Given the description of an element on the screen output the (x, y) to click on. 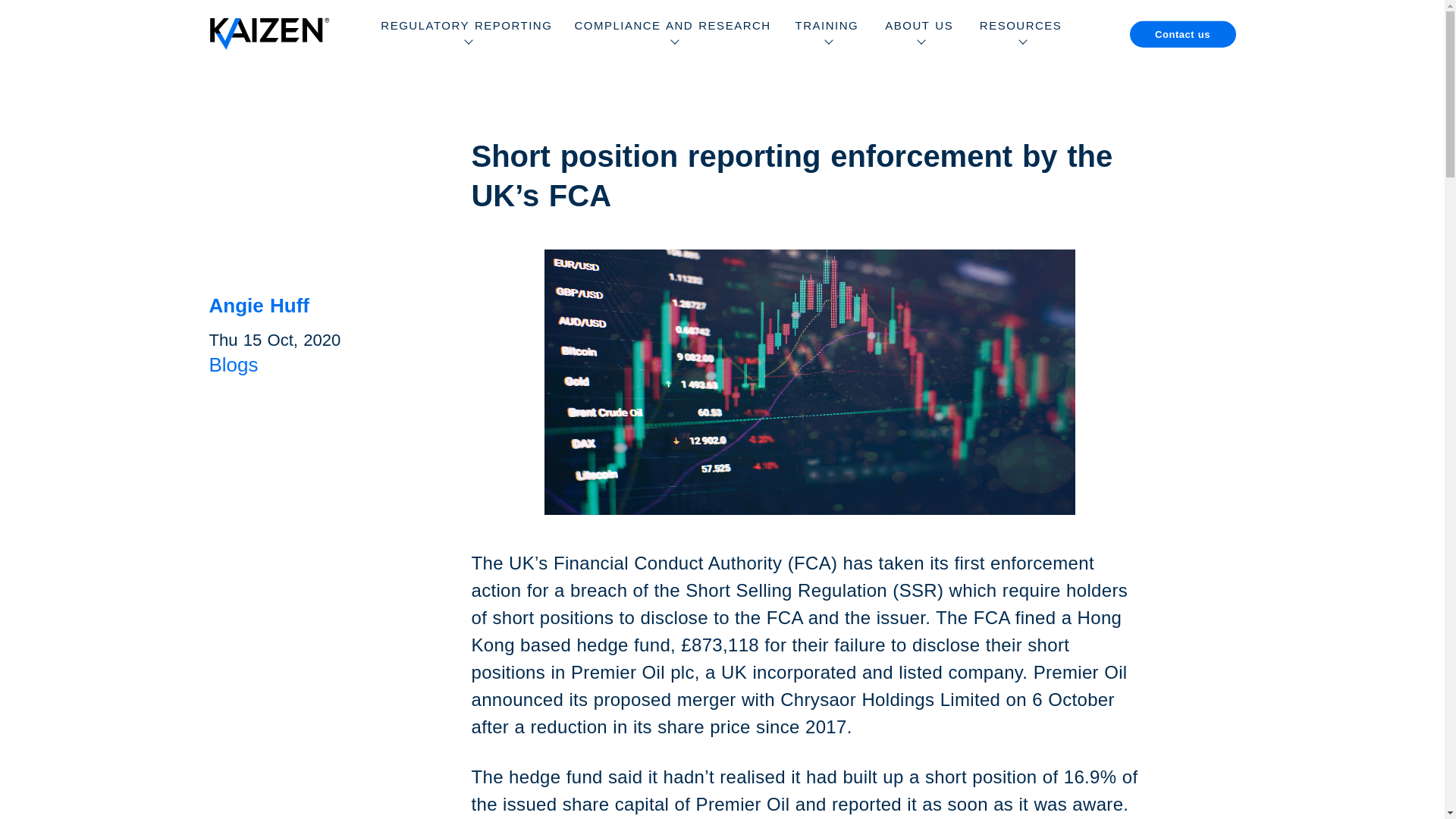
ABOUT US (919, 33)
REGULATORY REPORTING (465, 33)
COMPLIANCE AND RESEARCH (672, 33)
TRAINING (826, 33)
